Given the description of an element on the screen output the (x, y) to click on. 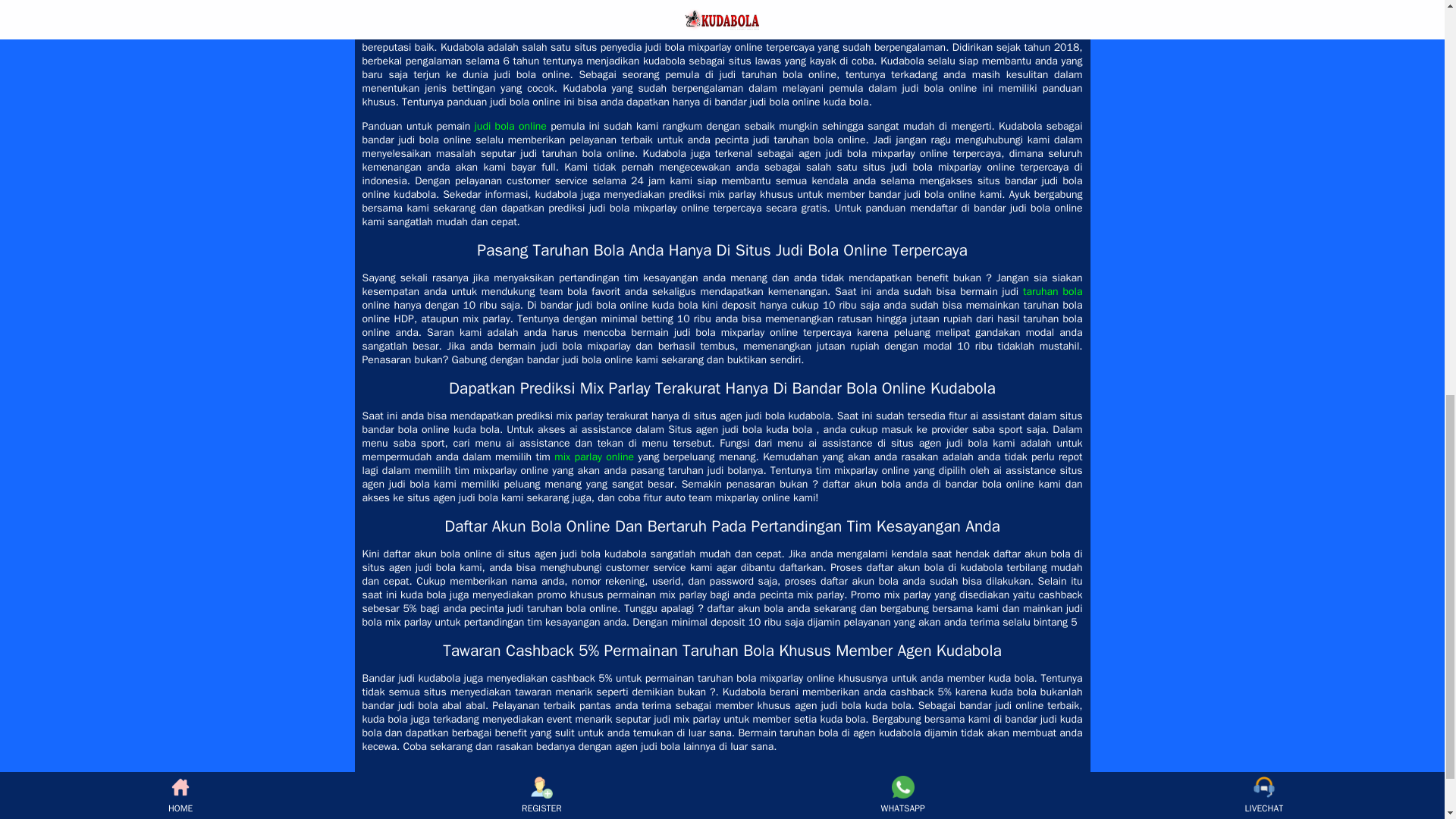
mix parlay online (593, 456)
judi bola online (510, 125)
taruhan bola (1053, 291)
Kudabola (384, 19)
